Given the description of an element on the screen output the (x, y) to click on. 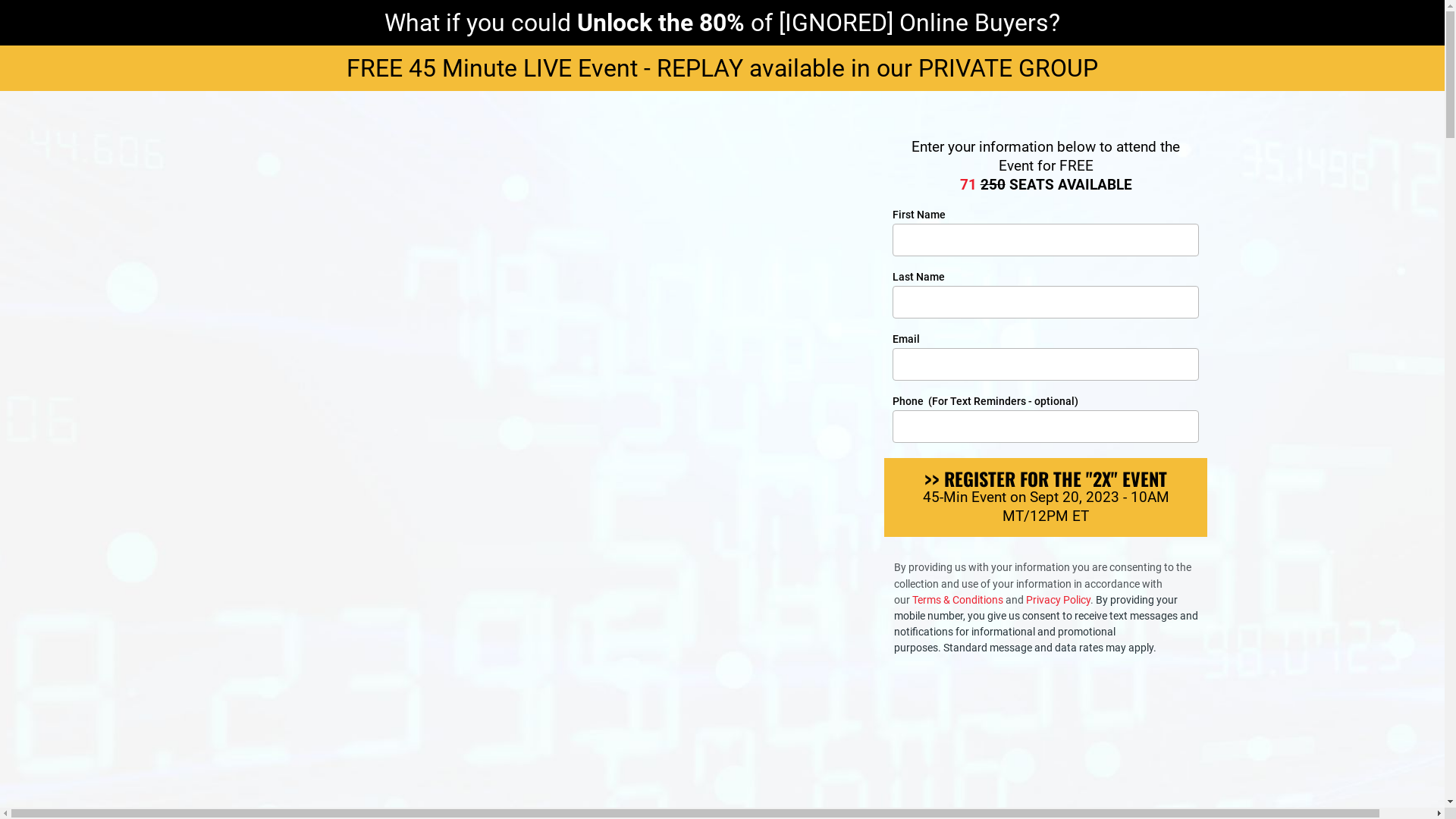
Privacy Policy Element type: text (1058, 599)
Terms & Conditions  Element type: text (958, 599)
